Given the description of an element on the screen output the (x, y) to click on. 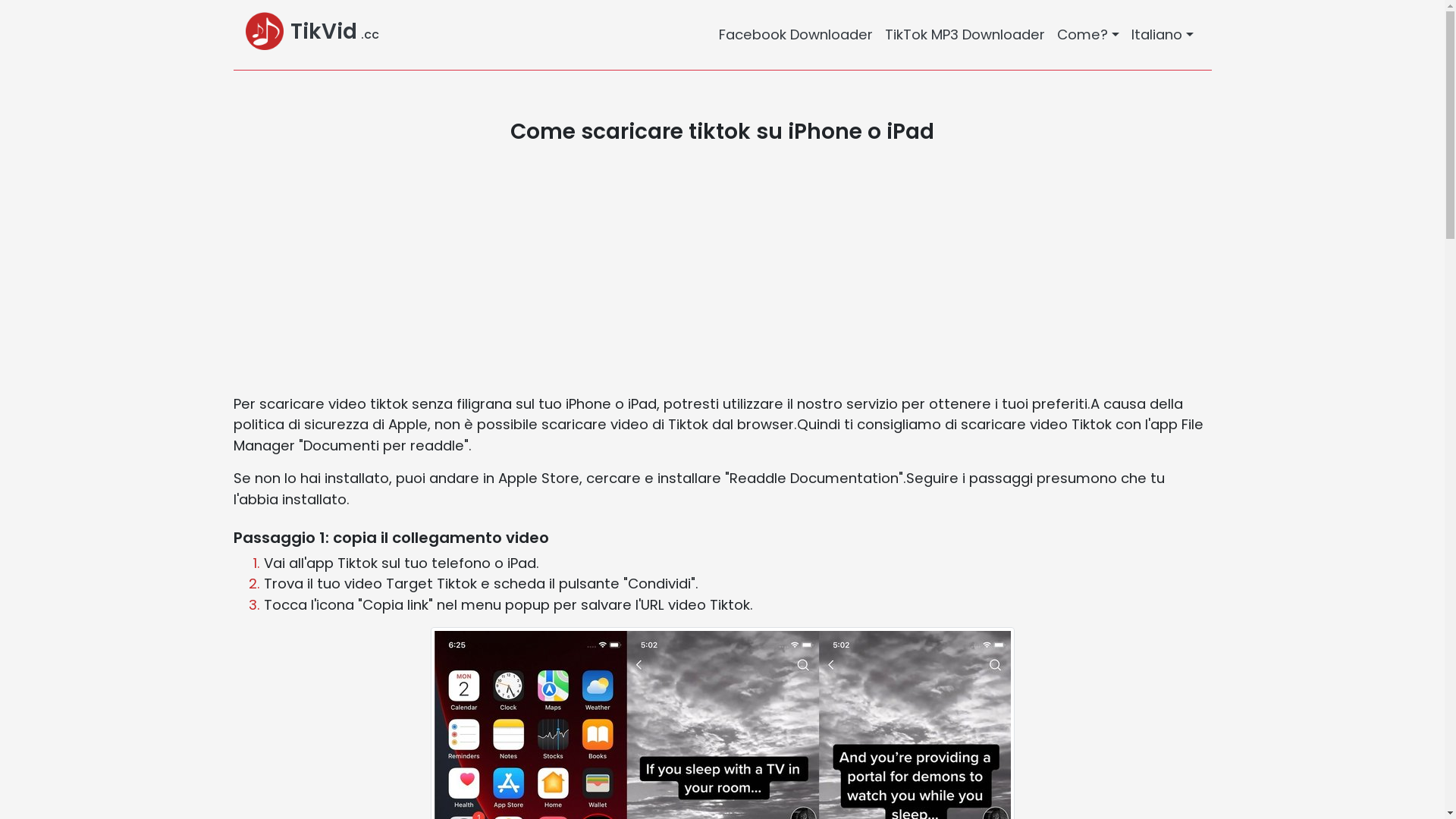
Italiano Element type: text (1162, 34)
Come? Element type: text (1088, 34)
TikVid .cc Element type: text (312, 34)
Facebook Downloader Element type: text (795, 34)
TikTok MP3 Downloader Element type: text (964, 34)
Advertisement Element type: hover (688, 269)
